Given the description of an element on the screen output the (x, y) to click on. 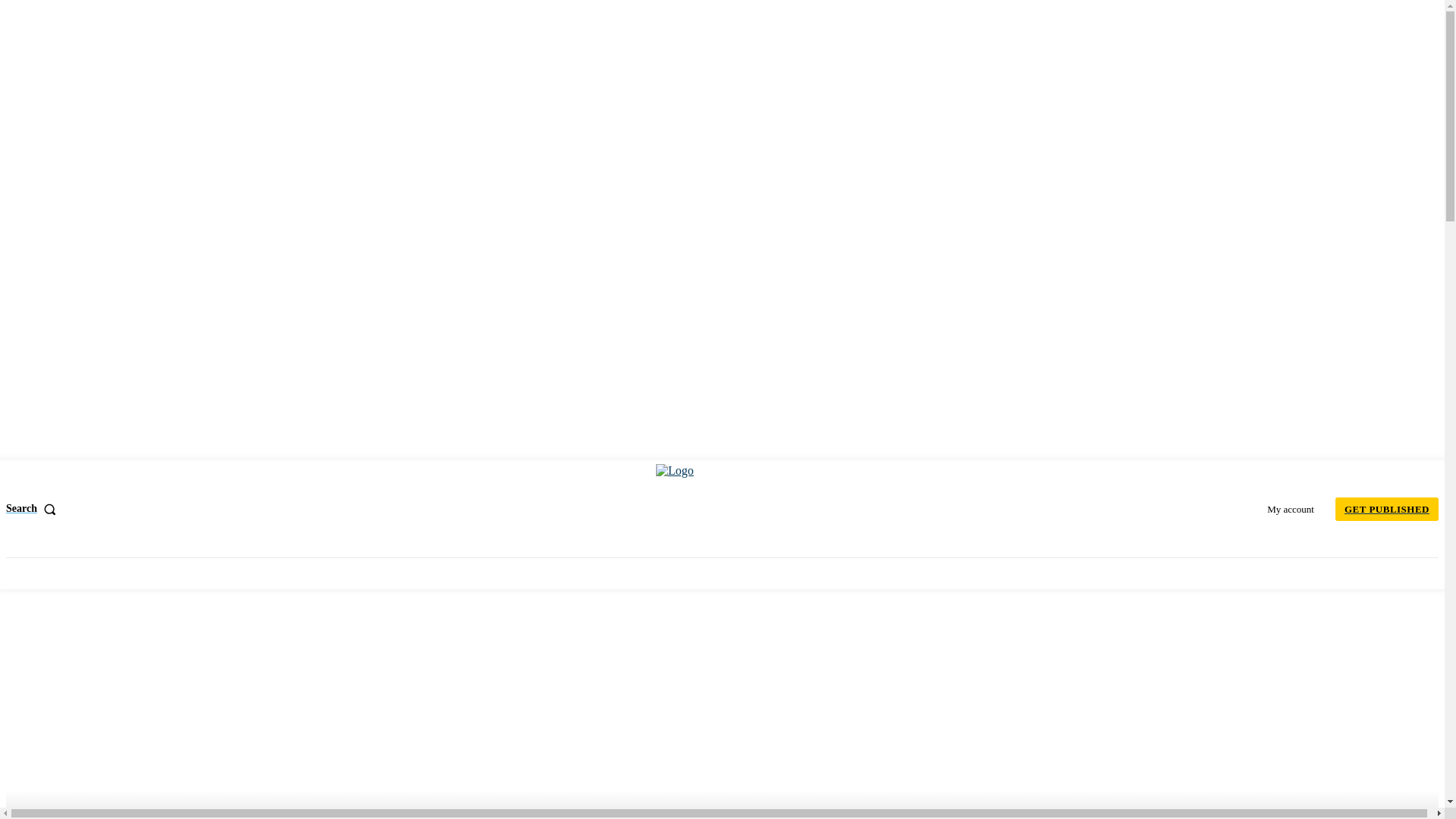
Community (301, 572)
International (441, 572)
Opinion (369, 572)
Business (232, 572)
GET PUBLISHED (1386, 508)
World (119, 572)
Interview (516, 572)
National (63, 572)
Politics (173, 572)
Education (673, 572)
Search (33, 508)
Entertainment (593, 572)
